Given the description of an element on the screen output the (x, y) to click on. 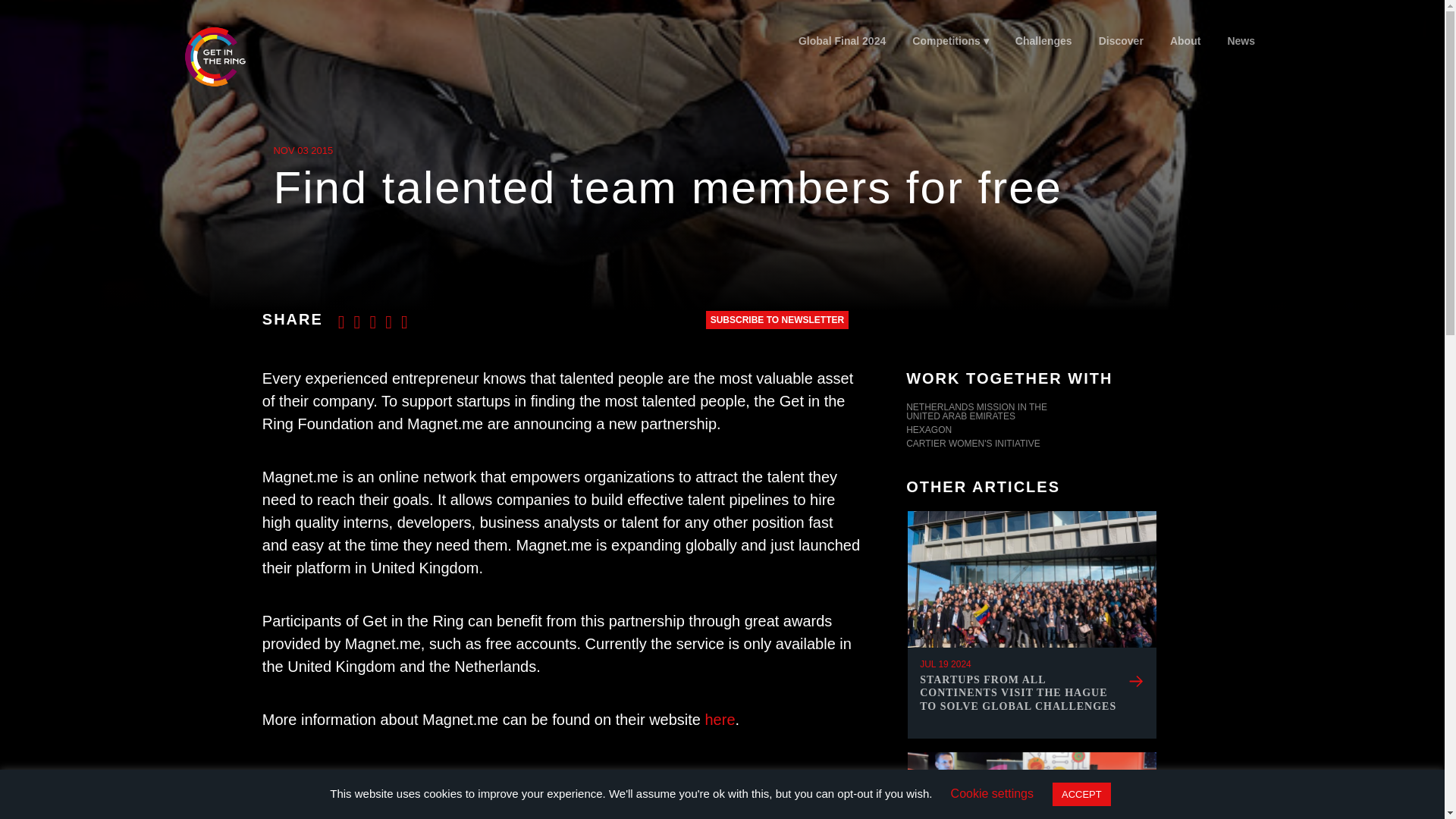
SUBSCRIBE TO NEWSLETTER (777, 320)
Challenges (1042, 41)
HEXAGON (1031, 431)
here (719, 719)
CARTIER WOMEN'S INITIATIVE (1031, 445)
News (1241, 41)
Get in the Ring (213, 56)
Discover (1120, 41)
Get in the Ring (232, 56)
About (1185, 41)
Competitions (951, 41)
SUBSCRIBE TO NEWSLETTER (777, 320)
